Given the description of an element on the screen output the (x, y) to click on. 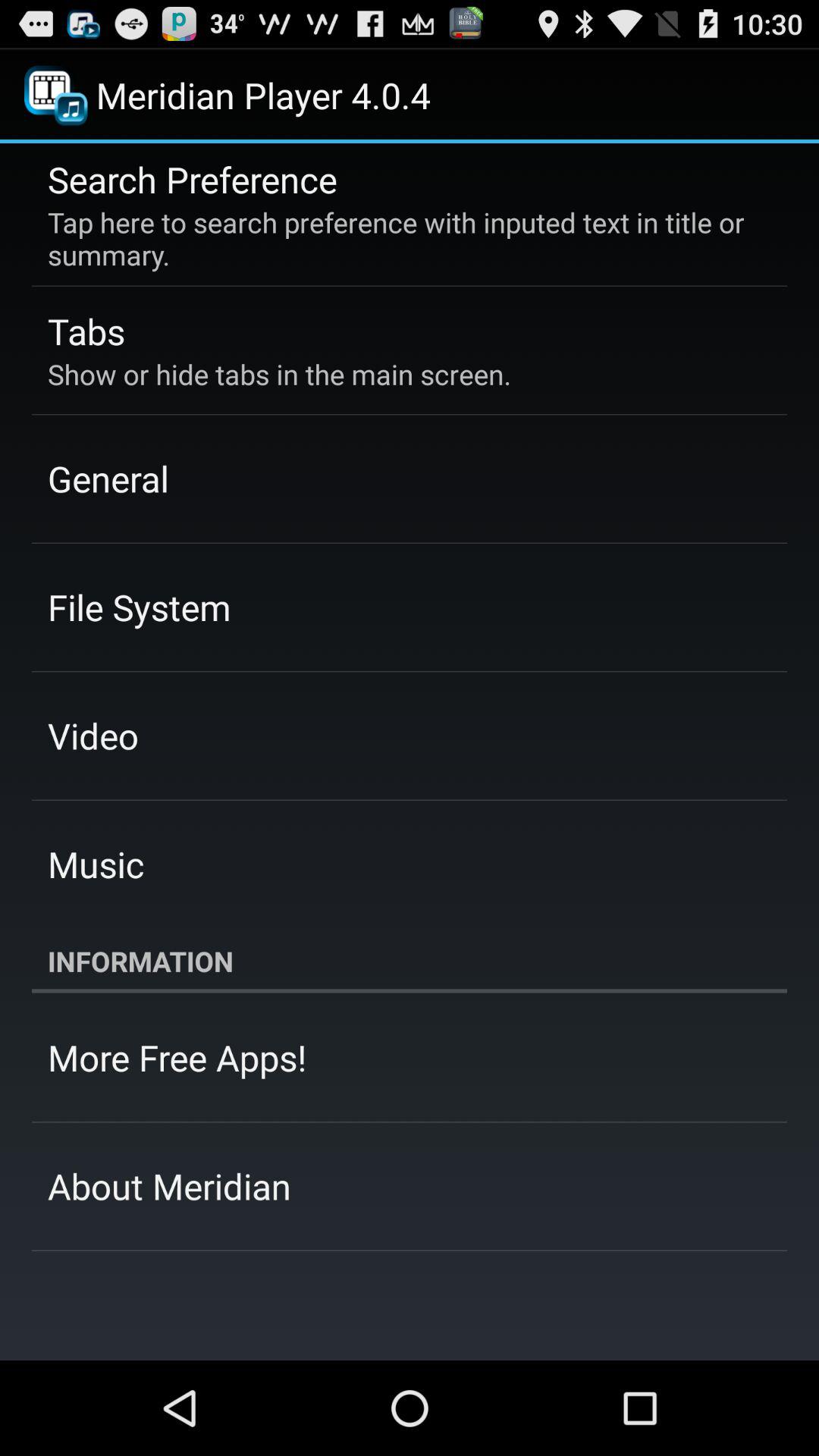
choose the item below video app (95, 864)
